Given the description of an element on the screen output the (x, y) to click on. 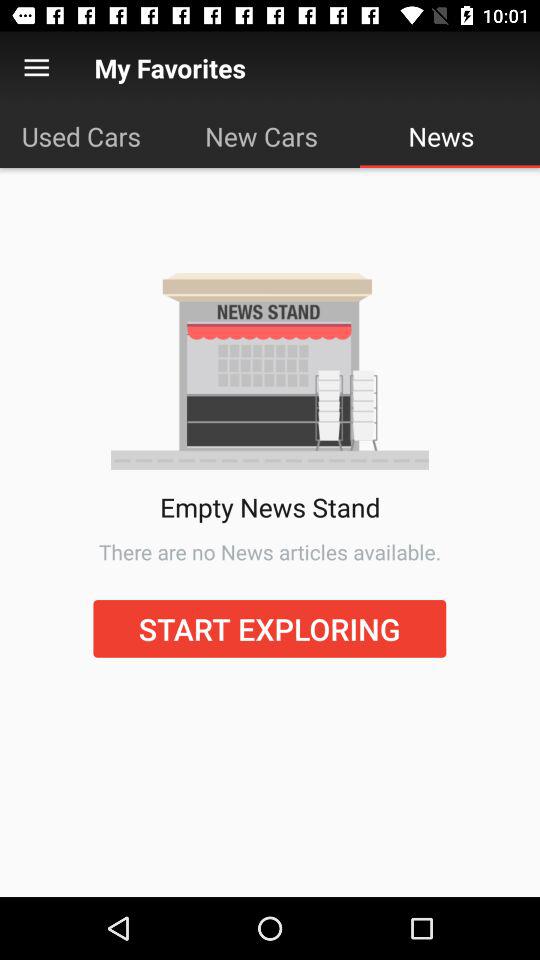
select the menu option (36, 68)
